Given the description of an element on the screen output the (x, y) to click on. 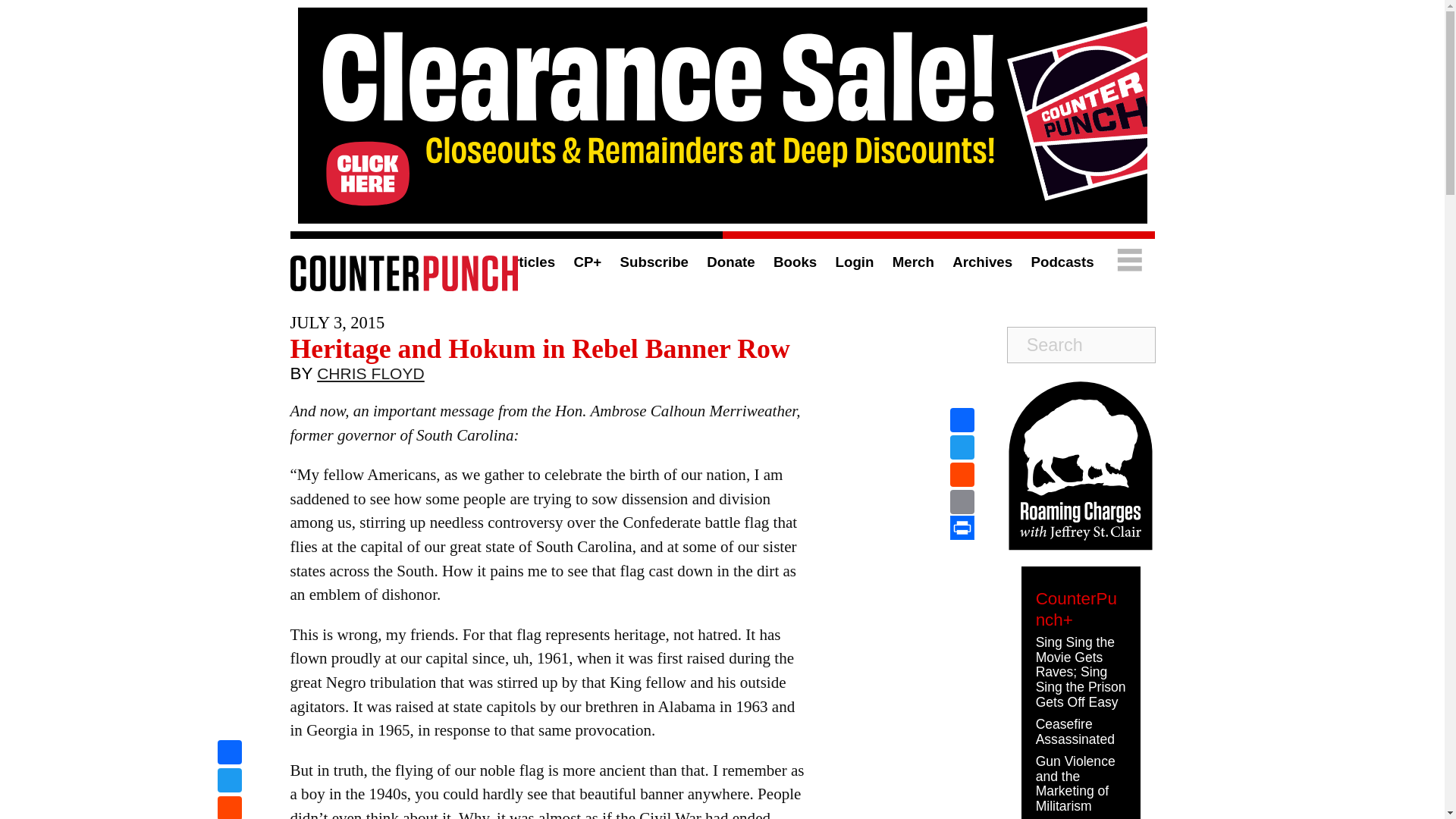
Articles (528, 261)
Facebook (962, 420)
CHRIS FLOYD (371, 376)
Podcasts (1061, 261)
Reddit (229, 807)
Merch (913, 261)
Print This Post (962, 527)
2015-07-03 (336, 322)
Twitter (229, 782)
Donate (730, 261)
Books (794, 261)
Ceasefire Assassinated (1075, 731)
Reddit (962, 474)
Login (855, 261)
Gun Violence and the Marketing of Militarism (1075, 783)
